Given the description of an element on the screen output the (x, y) to click on. 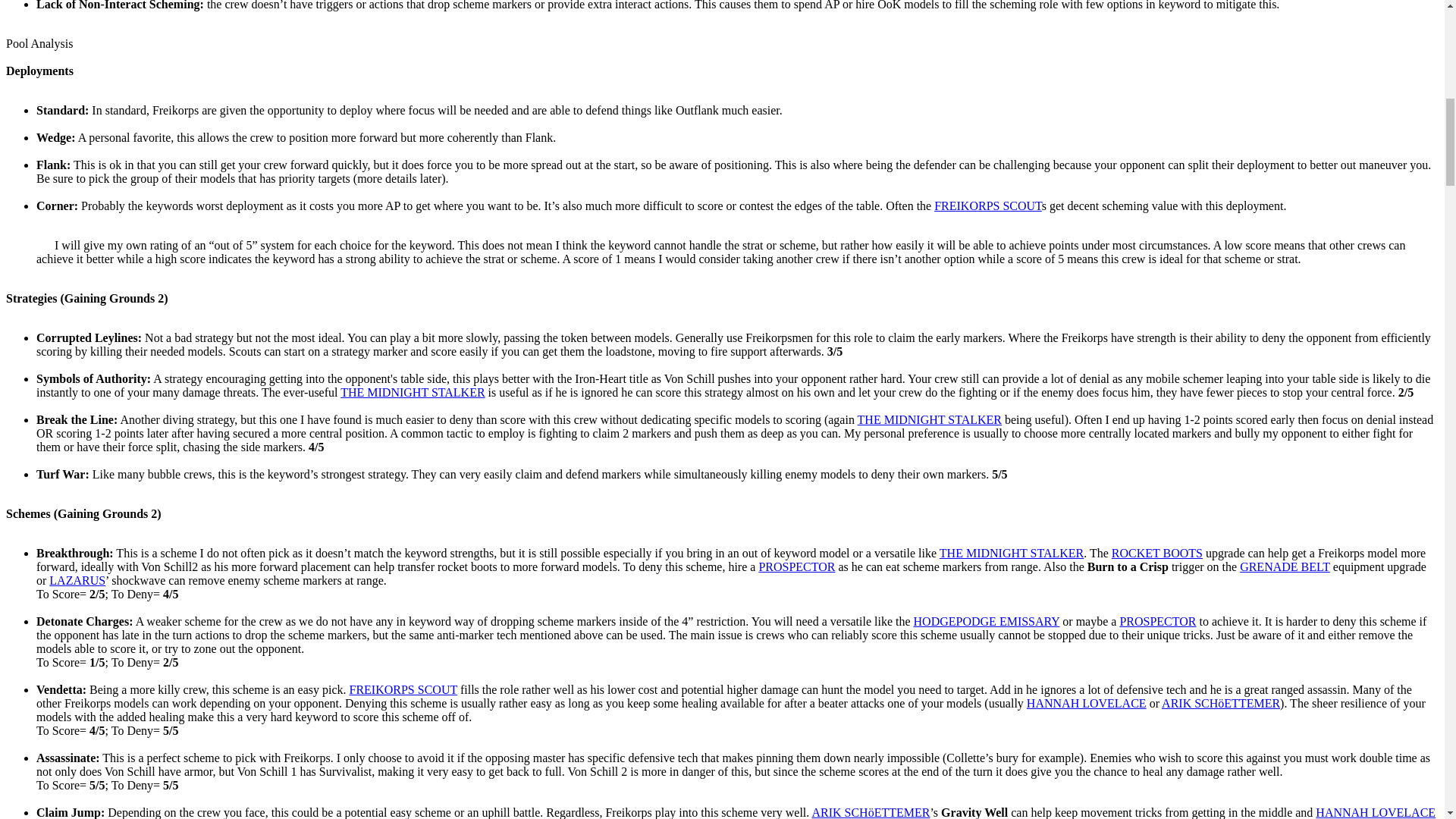
HANNAH LOVELACE (1086, 703)
FREIKORPS SCOUT (988, 205)
THE MIDNIGHT STALKER (1011, 553)
THE MIDNIGHT STALKER (412, 391)
LAZARUS (76, 580)
PROSPECTOR (796, 566)
PROSPECTOR (1157, 621)
GRENADE BELT (1285, 566)
HODGEPODGE EMISSARY (986, 621)
ROCKET BOOTS (1157, 553)
THE MIDNIGHT STALKER (929, 419)
FREIKORPS SCOUT (403, 689)
